Given the description of an element on the screen output the (x, y) to click on. 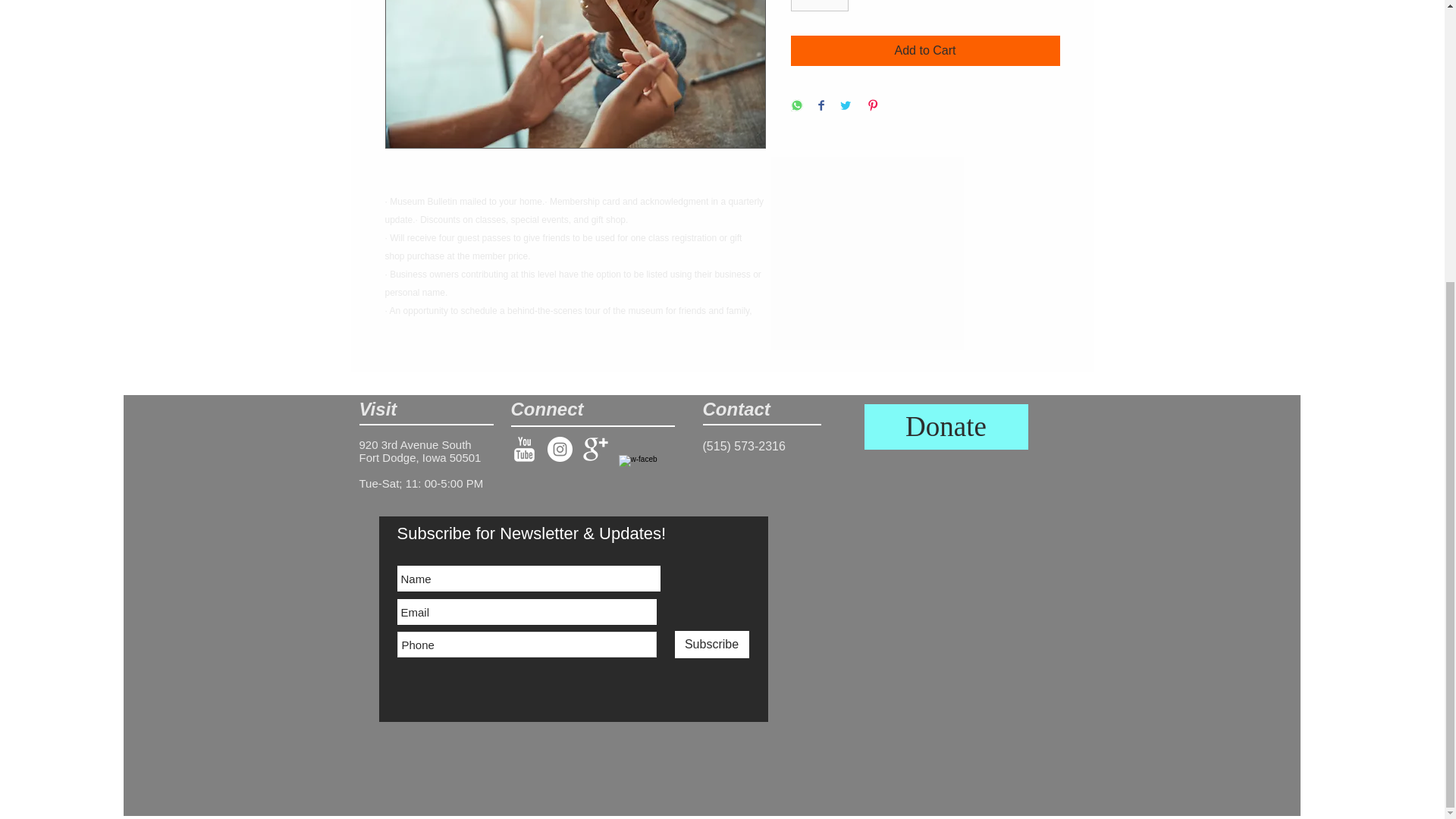
Subscribe (712, 644)
1 (818, 6)
Google Maps (946, 587)
Add to Cart (924, 51)
Donate (945, 426)
